Given the description of an element on the screen output the (x, y) to click on. 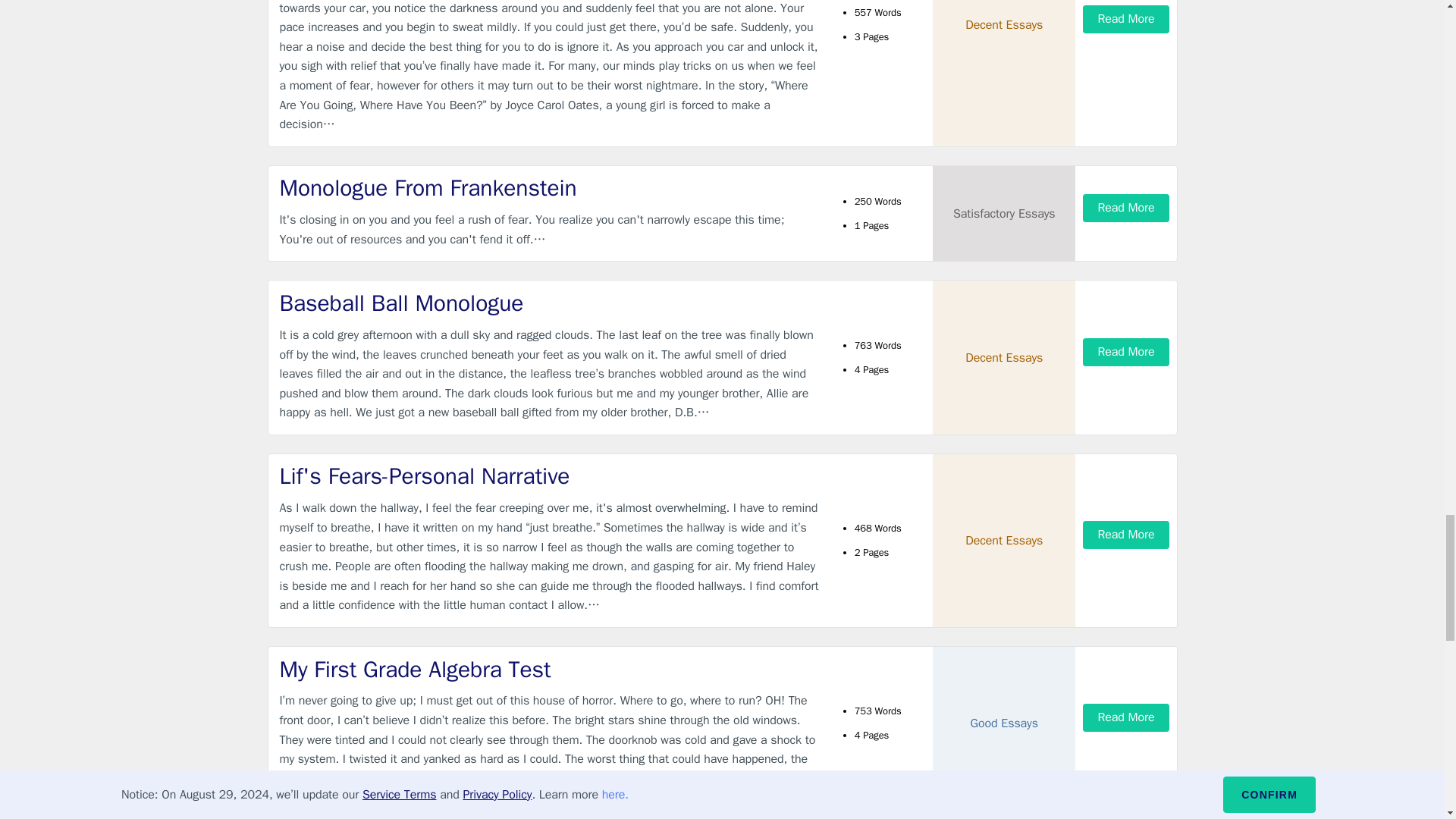
Read More (1126, 18)
